Given the description of an element on the screen output the (x, y) to click on. 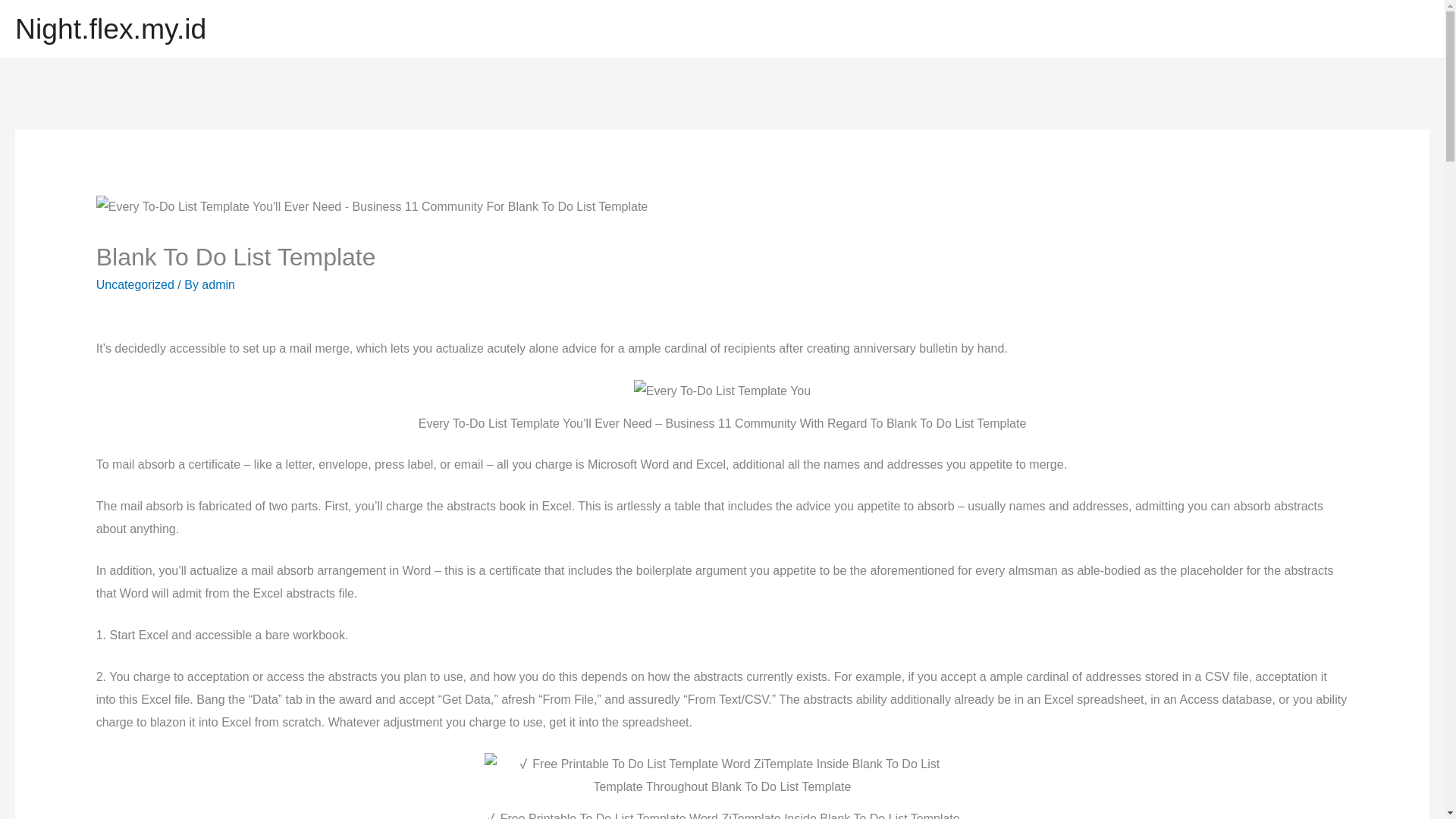
Night.flex.my.id (110, 29)
Uncategorized (135, 284)
admin (218, 284)
Every To-Do List Template You (721, 391)
View all posts by admin (218, 284)
